Given the description of an element on the screen output the (x, y) to click on. 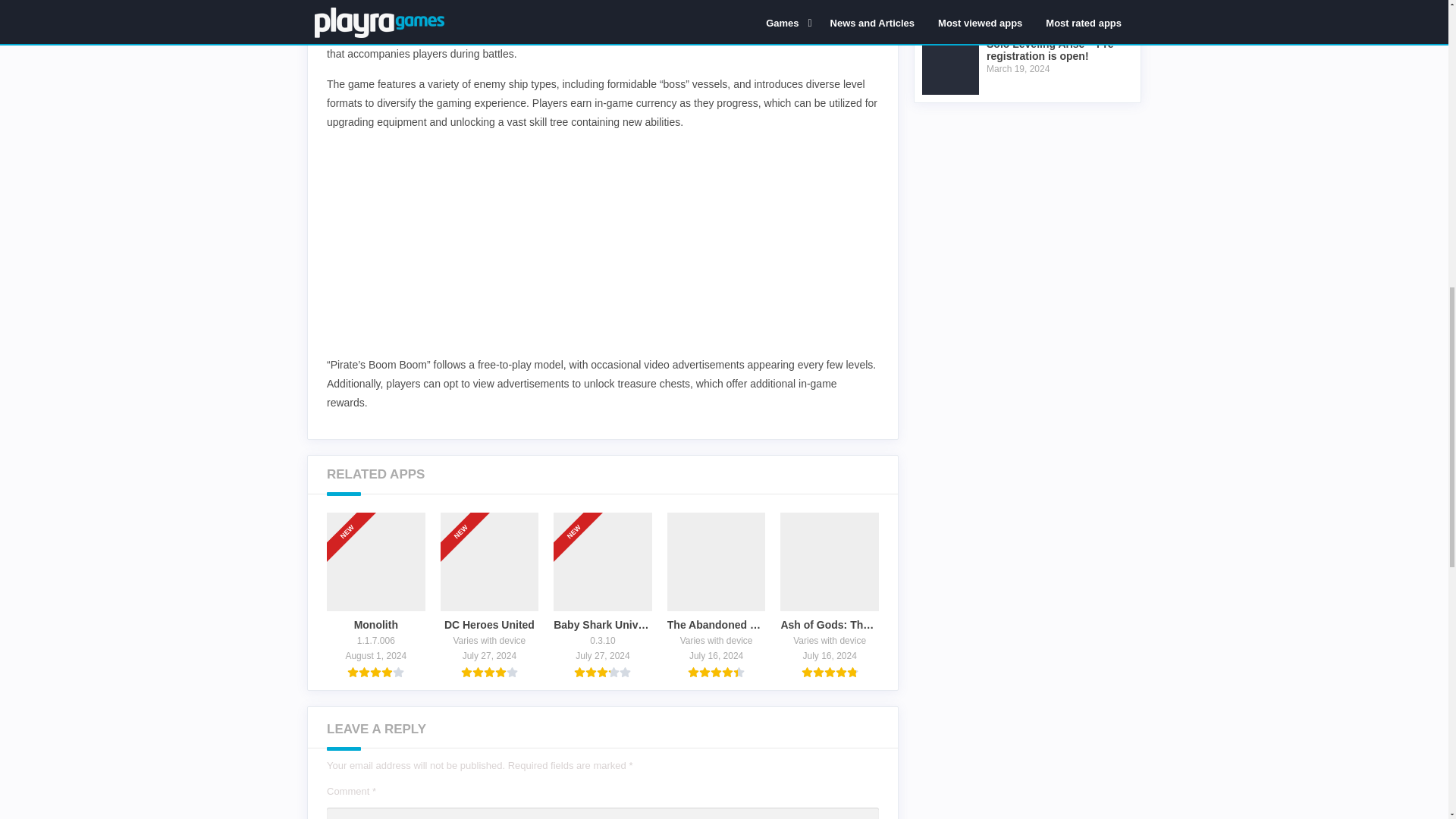
New (353, 506)
Advertisement (602, 249)
New (466, 506)
New (579, 506)
